Given the description of an element on the screen output the (x, y) to click on. 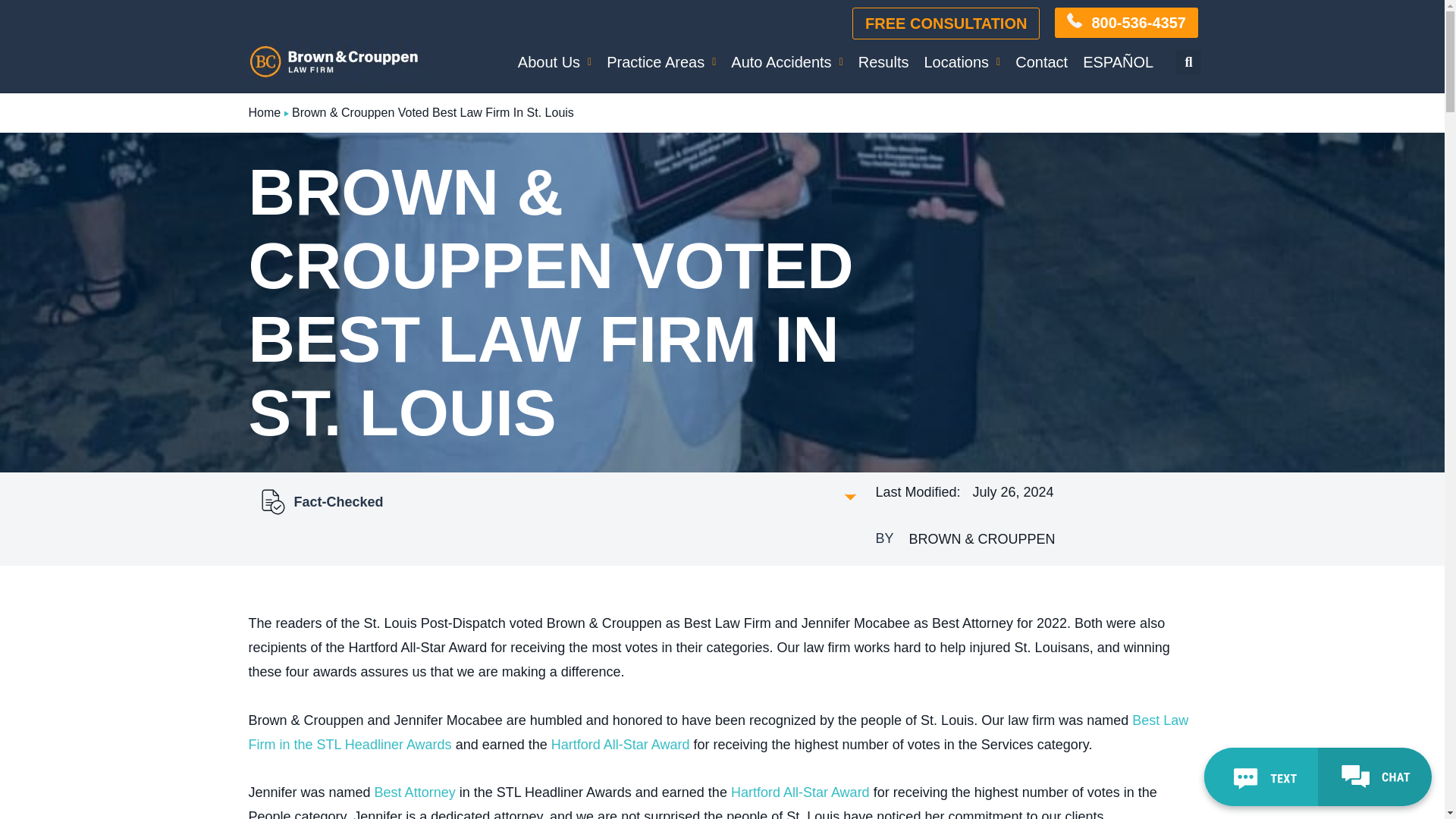
Locations (961, 61)
About Us (554, 61)
Practice Areas (660, 61)
FREE CONSULTATION (945, 23)
800-536-4357 (1126, 22)
Launch Text Message (1260, 776)
Auto Accidents (786, 61)
Results (883, 61)
